Given the description of an element on the screen output the (x, y) to click on. 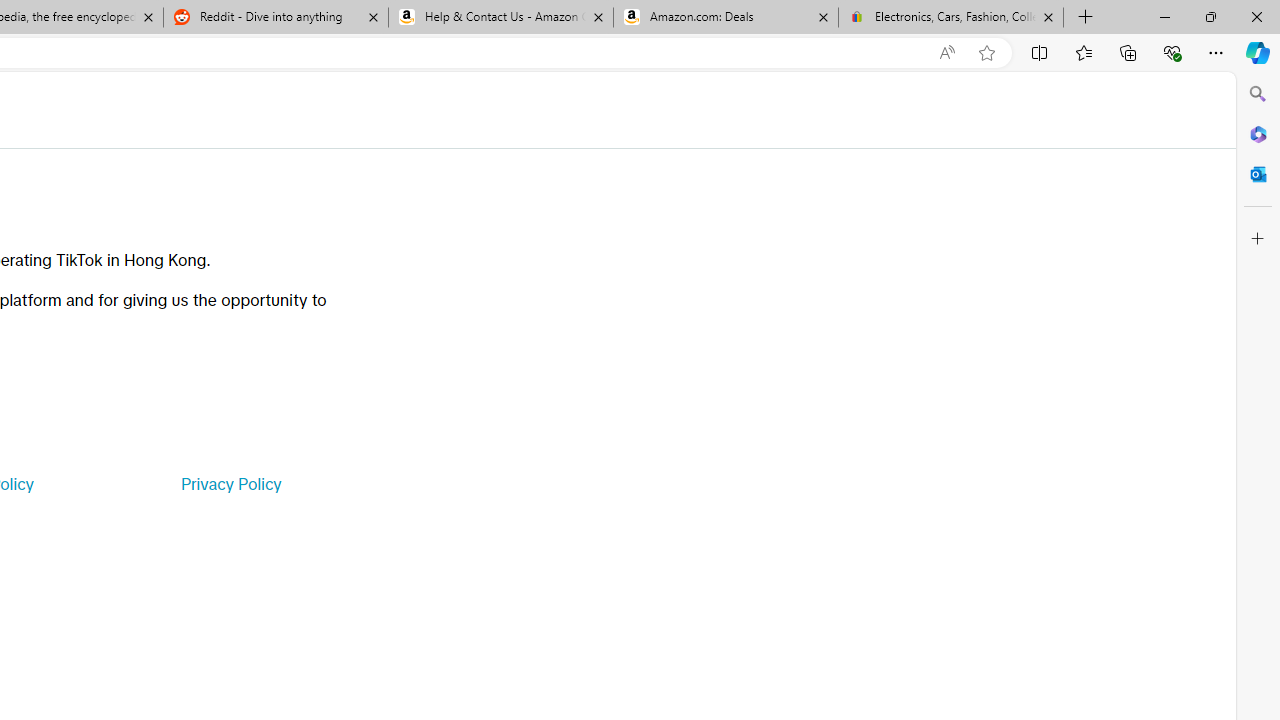
Amazon.com: Deals (726, 17)
Privacy Policy (230, 484)
